Given the description of an element on the screen output the (x, y) to click on. 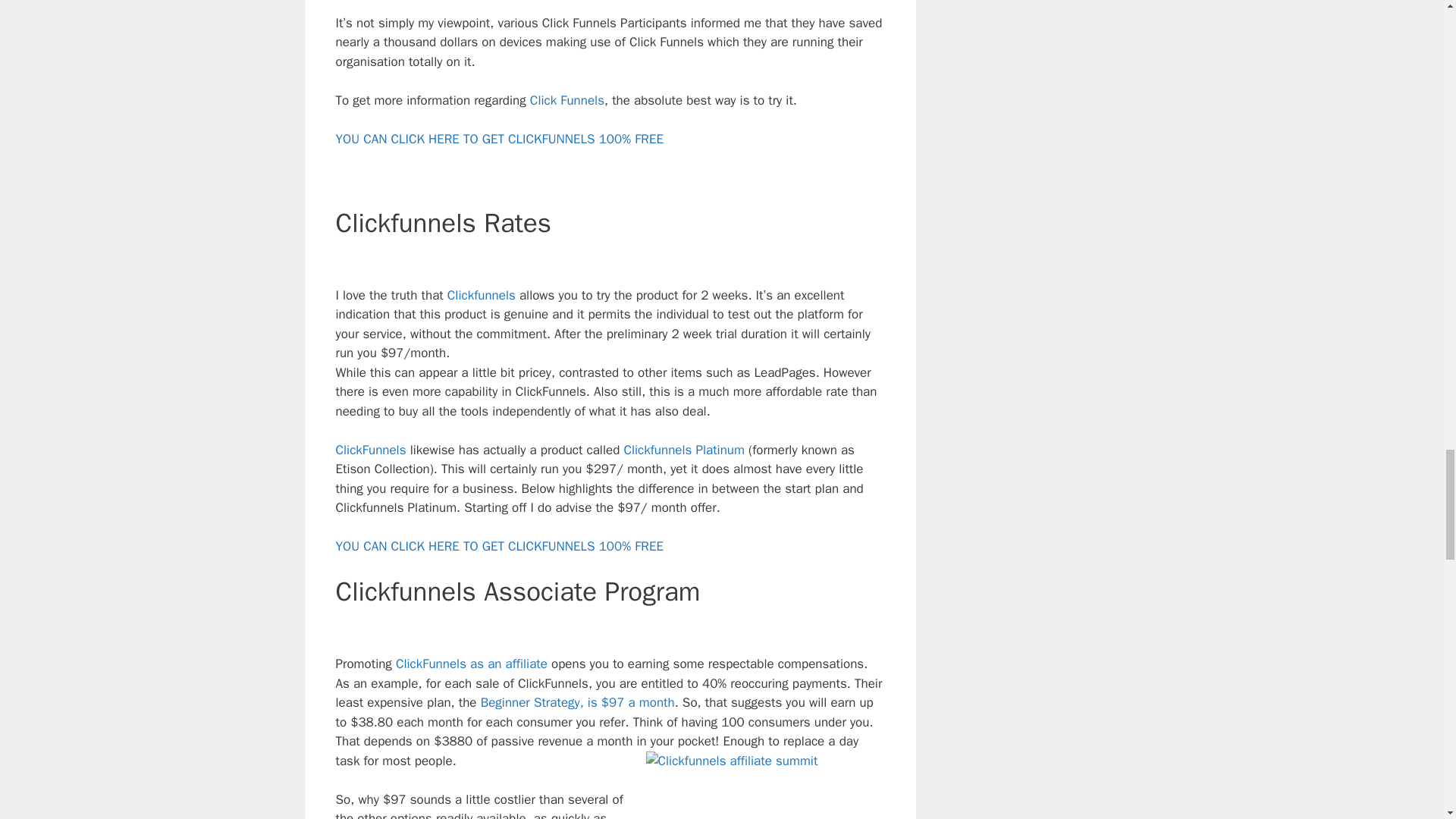
Click Funnels (566, 100)
Clickfunnels (480, 295)
ClickFunnels as an affiliate (469, 663)
ClickFunnels (370, 449)
Clickfunnels Platinum (683, 449)
